Given the description of an element on the screen output the (x, y) to click on. 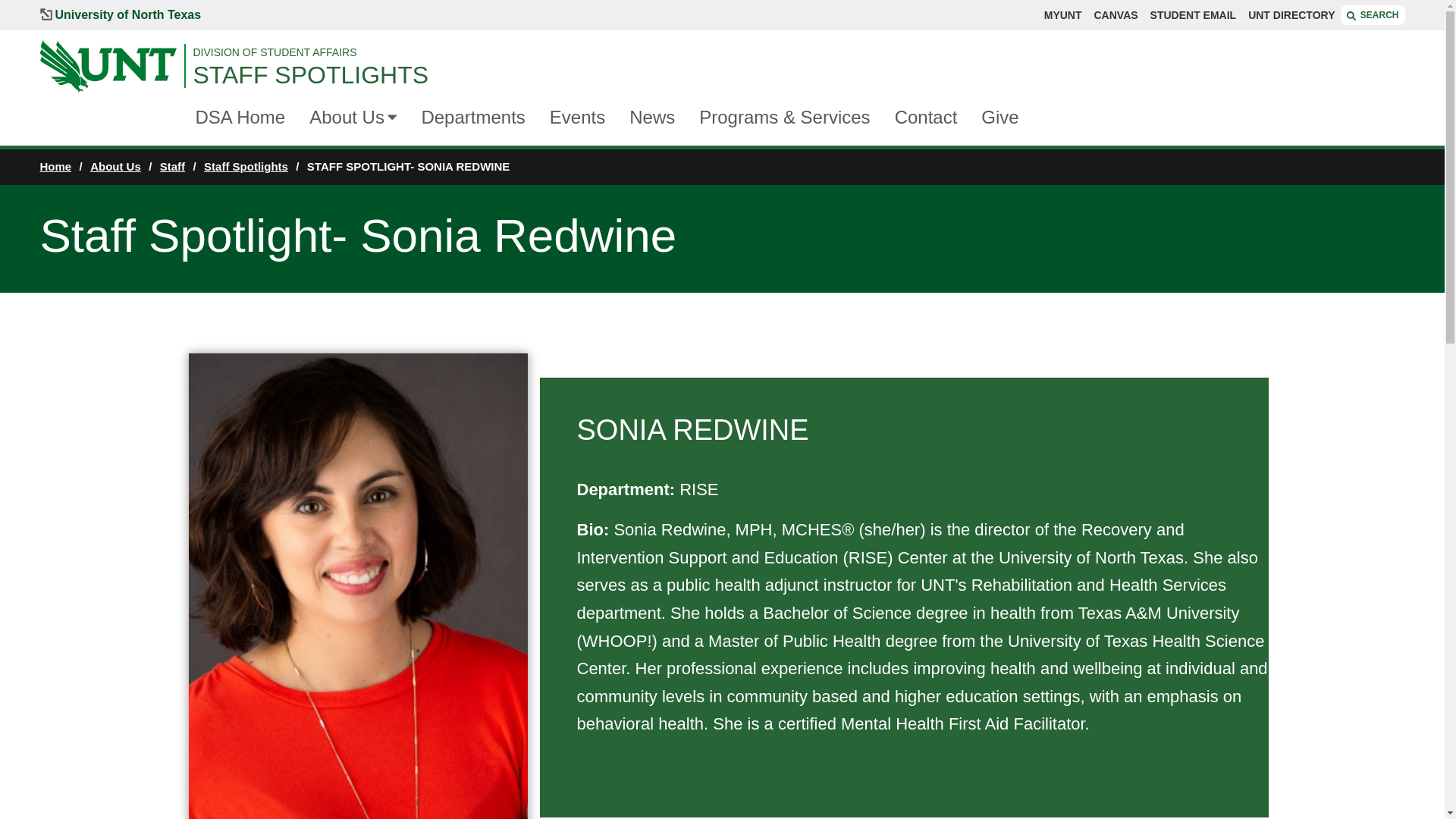
About Us (346, 118)
STUDENT EMAIL (1193, 15)
SEARCH (1372, 14)
STAFF SPOTLIGHTS (798, 74)
News (651, 118)
MYUNT (1062, 15)
CANVAS (1115, 15)
Division of Student Affairs (798, 52)
Give (999, 118)
Contact (926, 118)
